Given the description of an element on the screen output the (x, y) to click on. 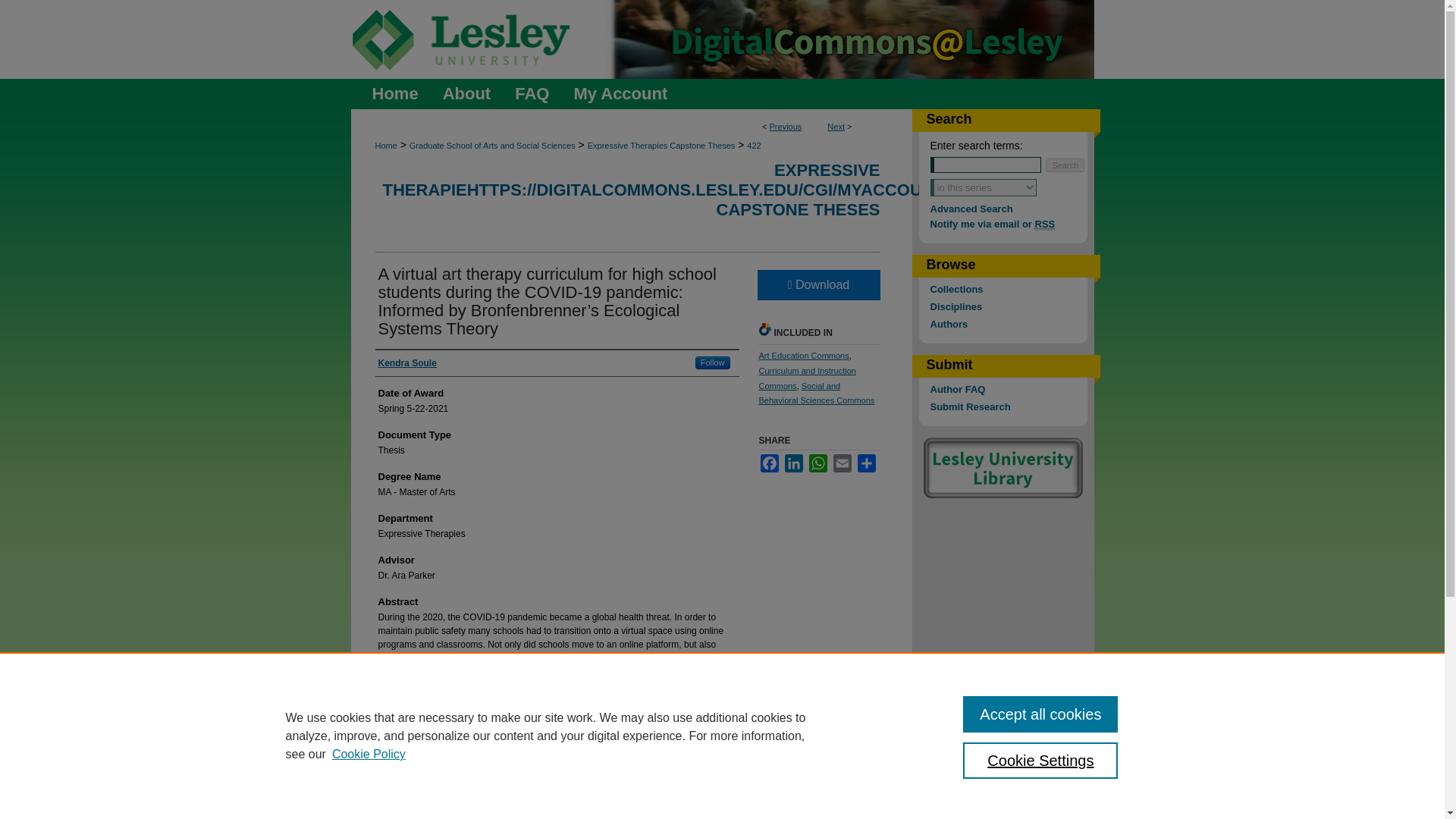
Search (1064, 164)
Email or RSS Notifications (1008, 224)
Home (389, 93)
422 (753, 144)
Notify me via email or RSS (1008, 224)
Download (818, 285)
Follow (712, 362)
Home (389, 93)
Share (866, 463)
Email (841, 463)
Collections (1008, 288)
Curriculum and Instruction Commons (807, 378)
Art Education Commons (803, 355)
Search (1064, 164)
My Account (619, 93)
